Given the description of an element on the screen output the (x, y) to click on. 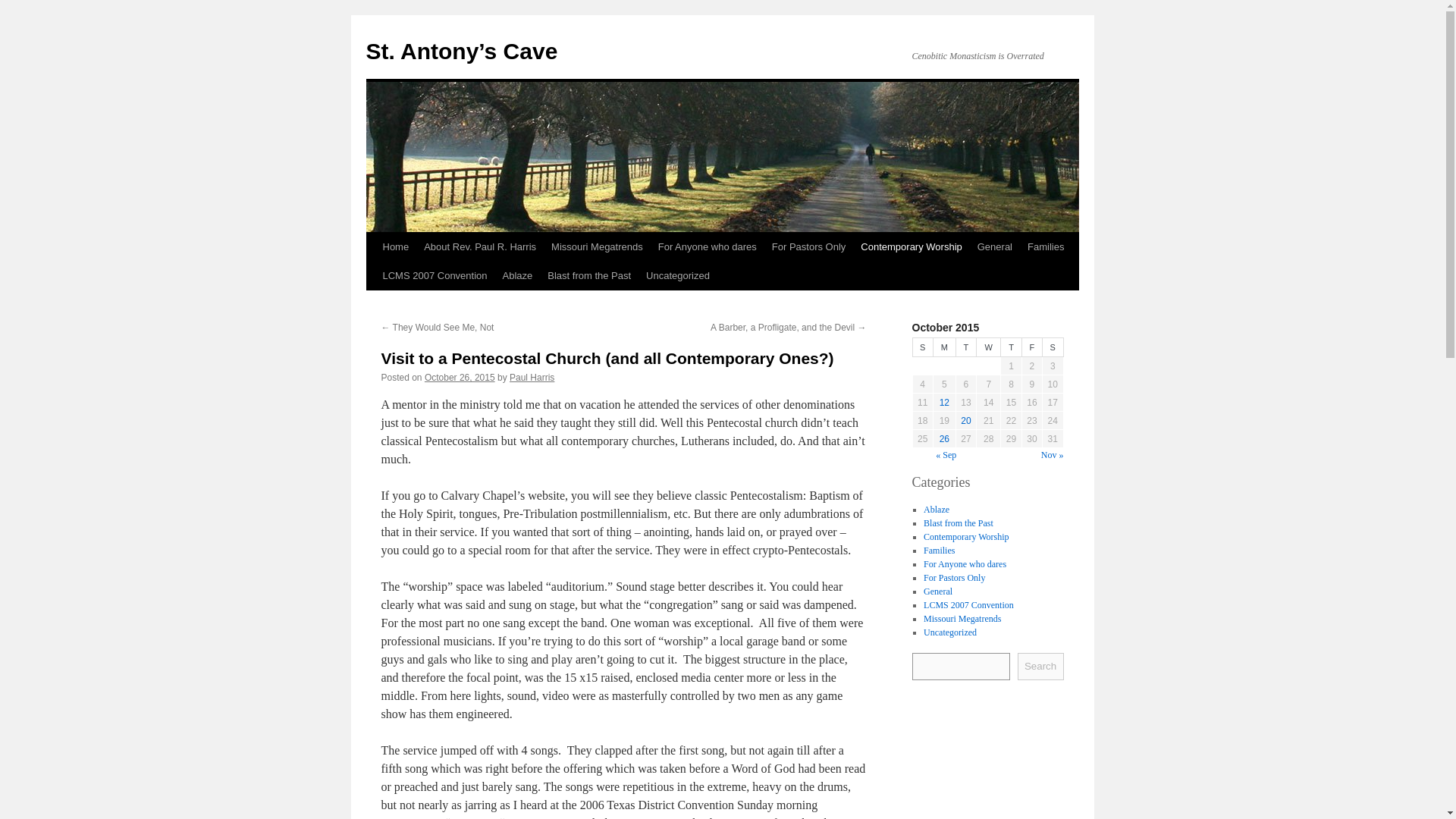
12 (944, 402)
Search (1040, 665)
Families (939, 549)
For Pastors Only (954, 576)
General (937, 590)
Sunday (922, 347)
LCMS 2007 Convention (434, 275)
20 (965, 420)
Blast from the Past (589, 275)
For Anyone who dares (964, 562)
